Given the description of an element on the screen output the (x, y) to click on. 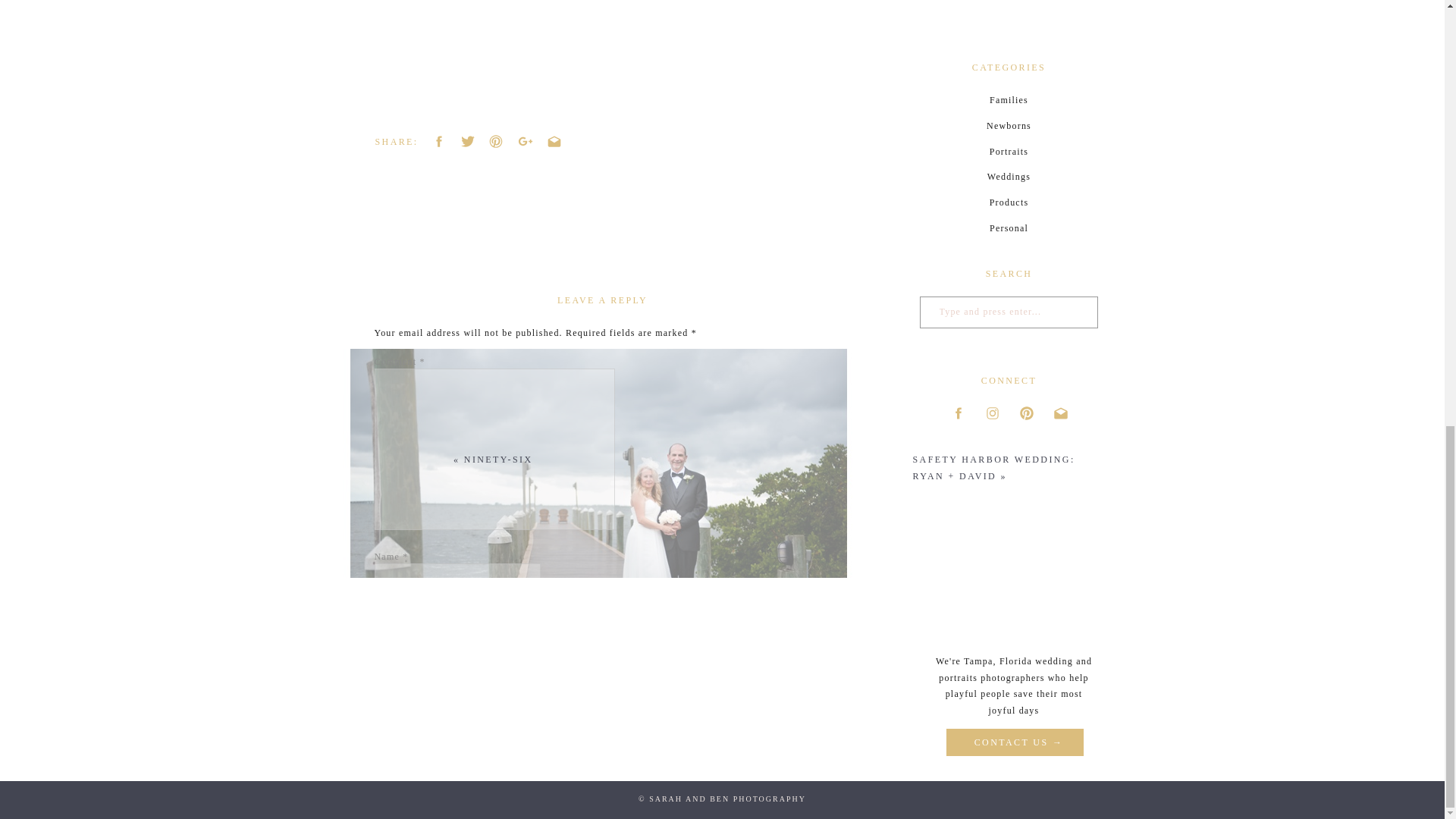
Weddings (1007, 177)
Products (1007, 202)
Post Comment (409, 762)
Families (1007, 100)
NINETY-SIX (498, 459)
Portraits (1007, 151)
yes (382, 699)
Post Comment (409, 762)
Newborns (1007, 126)
Personal (1007, 228)
